Given the description of an element on the screen output the (x, y) to click on. 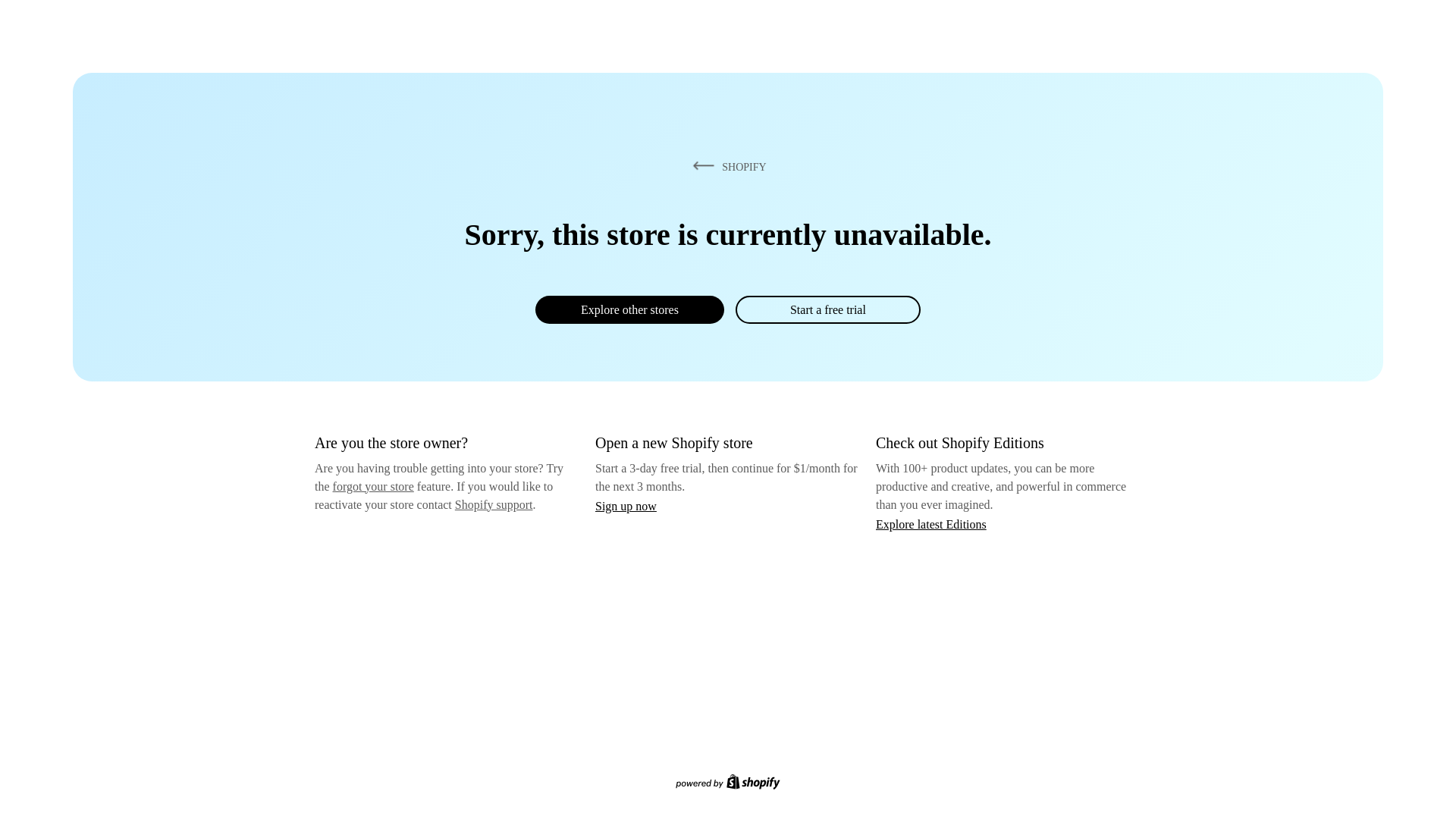
forgot your store Element type: text (373, 486)
Explore other stores Element type: text (629, 309)
Explore latest Editions Element type: text (930, 523)
Start a free trial Element type: text (827, 309)
SHOPIFY Element type: text (727, 166)
Sign up now Element type: text (625, 505)
Shopify support Element type: text (494, 504)
